Given the description of an element on the screen output the (x, y) to click on. 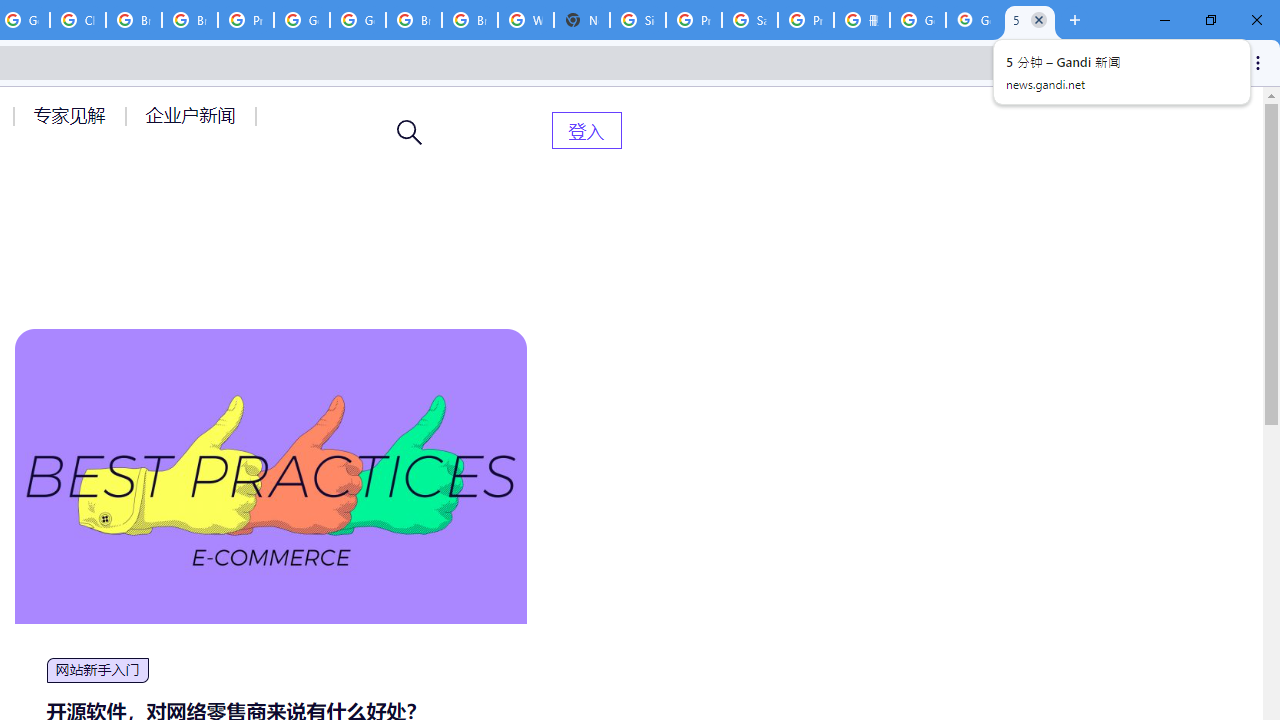
Browse Chrome as a guest - Computer - Google Chrome Help (413, 20)
Sign in - Google Accounts (637, 20)
